Given the description of an element on the screen output the (x, y) to click on. 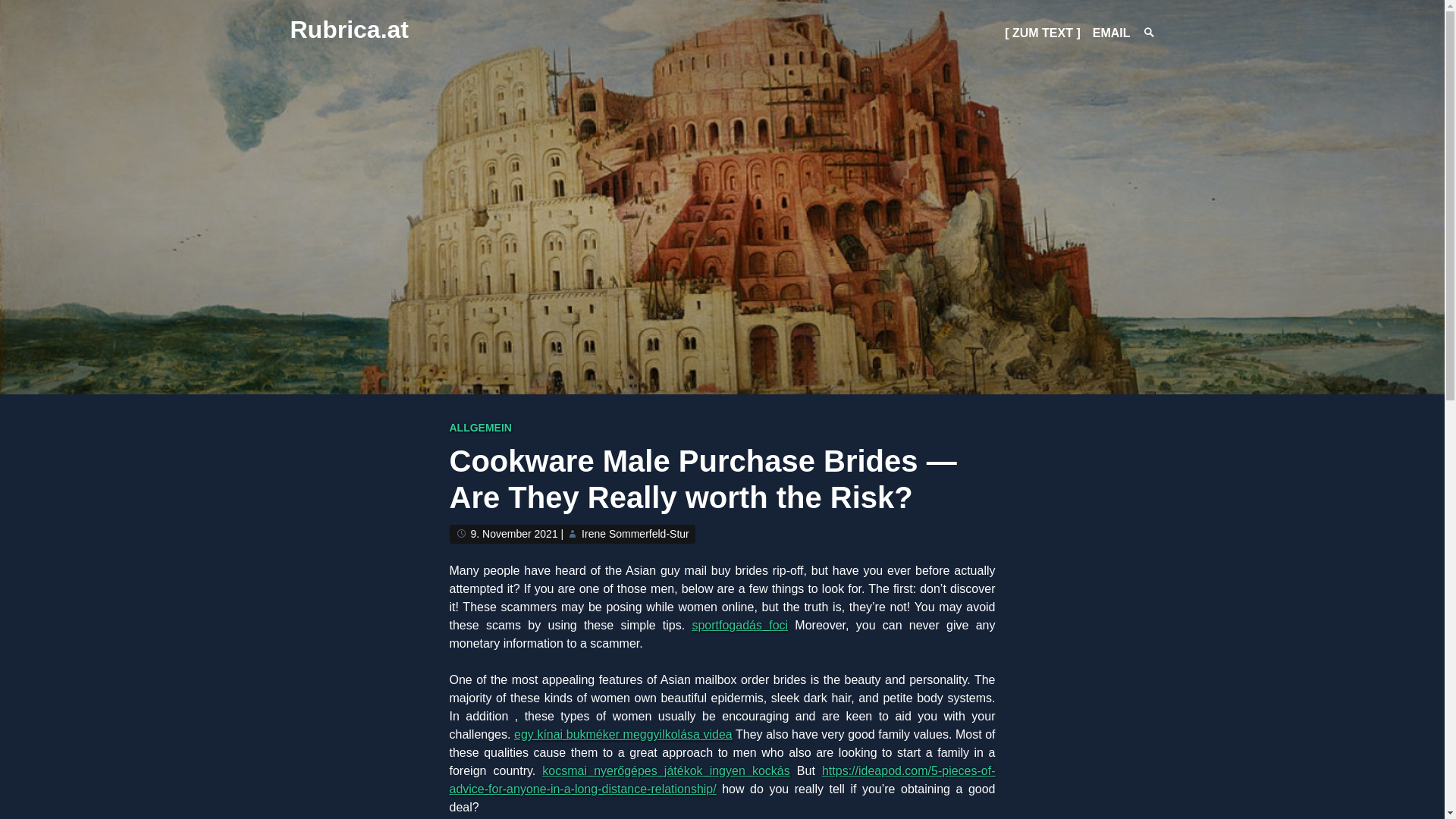
Irene Sommerfeld-Stur (634, 533)
9. November 2021 (513, 533)
ALLGEMEIN (479, 427)
EMAIL (1112, 32)
Rubrica.at (348, 29)
